Given the description of an element on the screen output the (x, y) to click on. 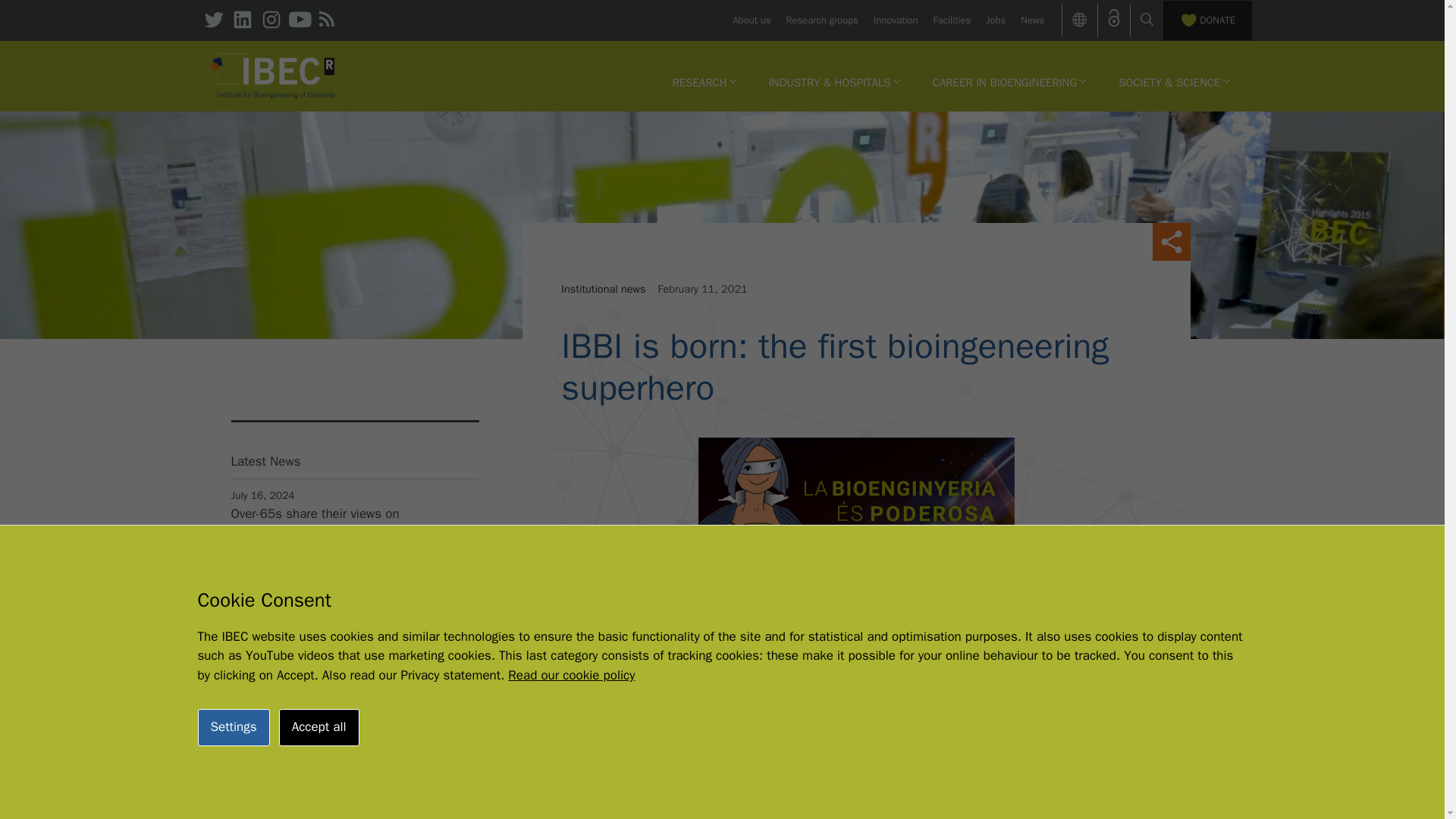
Innovation (895, 19)
Institute for Bioengineering of Catalonia (272, 74)
Facilities (952, 19)
Jobs (995, 19)
Institute for Bioengineering of Catalonia (272, 75)
RESEARCH (704, 81)
Research groups (822, 19)
DONATE (1207, 20)
About us (751, 19)
News (1031, 19)
